Given the description of an element on the screen output the (x, y) to click on. 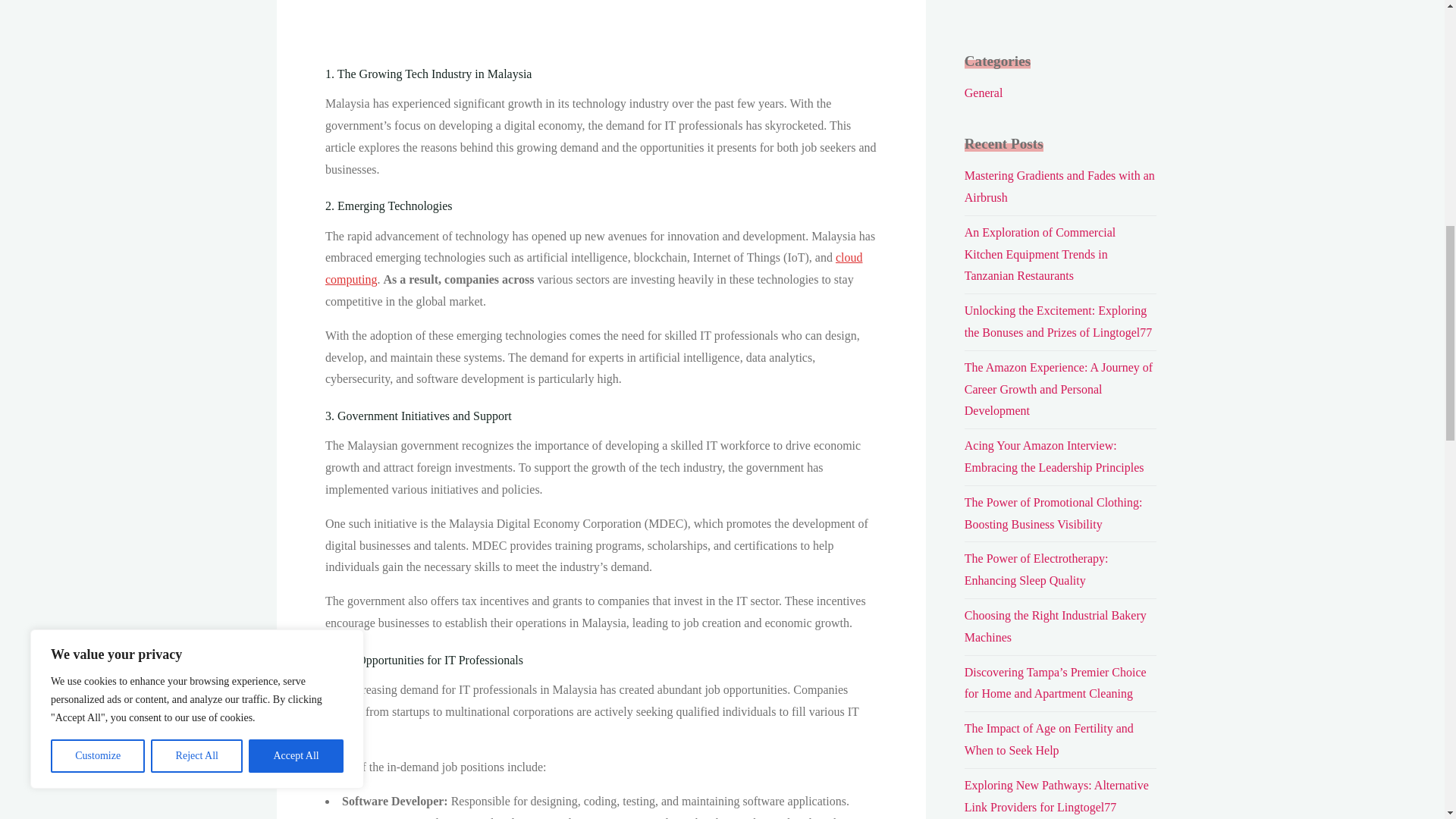
Mastering Gradients and Fades with an Airbrush (1058, 185)
cloud computing (592, 267)
General (983, 92)
